Given the description of an element on the screen output the (x, y) to click on. 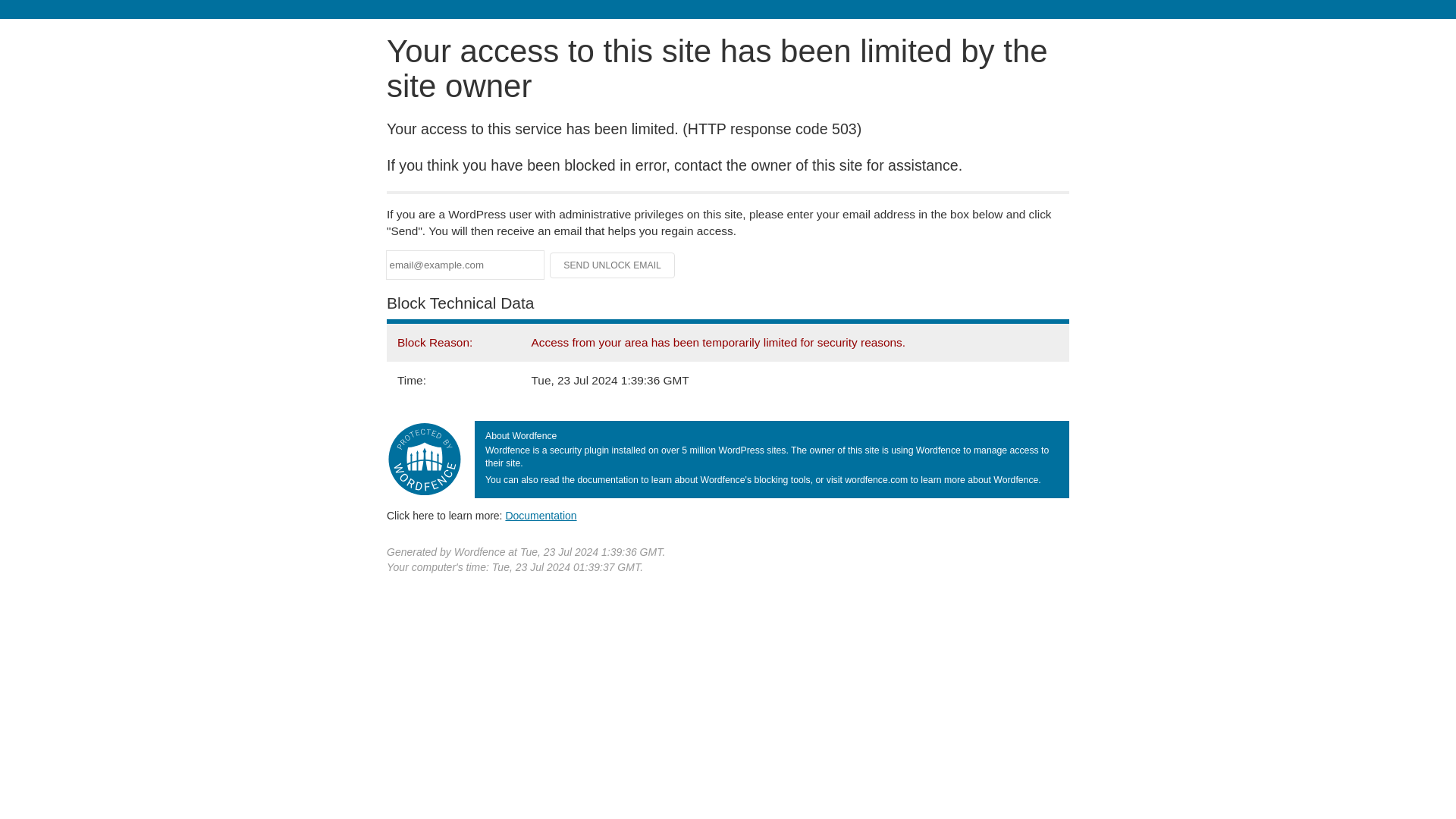
Send Unlock Email (612, 265)
Send Unlock Email (612, 265)
Documentation (540, 515)
